Given the description of an element on the screen output the (x, y) to click on. 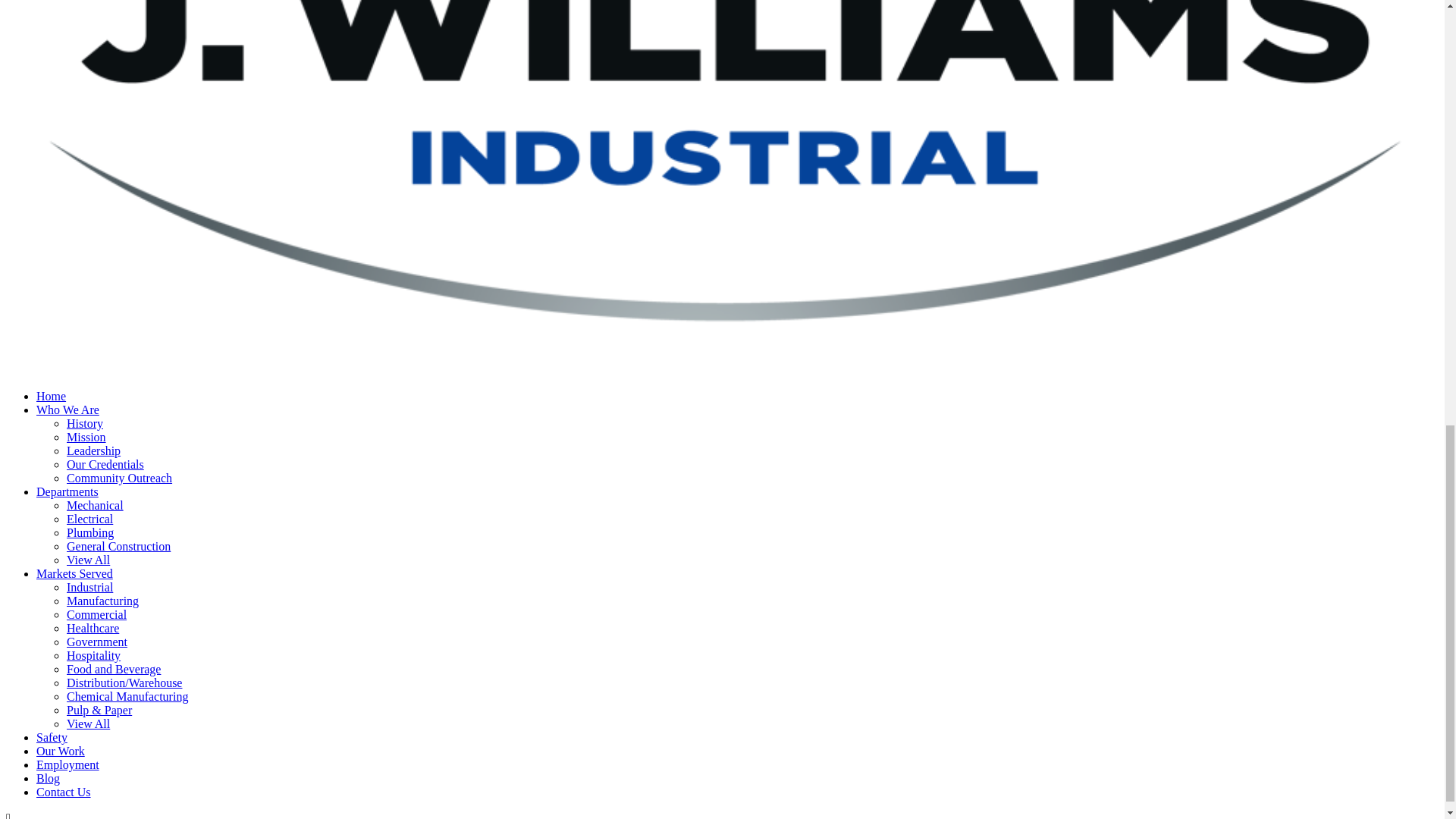
Safety (51, 737)
Employment (67, 764)
View All (88, 559)
History (84, 422)
Plumbing (89, 532)
General Construction (118, 545)
Mission (86, 436)
Our Work (60, 750)
Commercial (96, 614)
Electrical (89, 518)
